Given the description of an element on the screen output the (x, y) to click on. 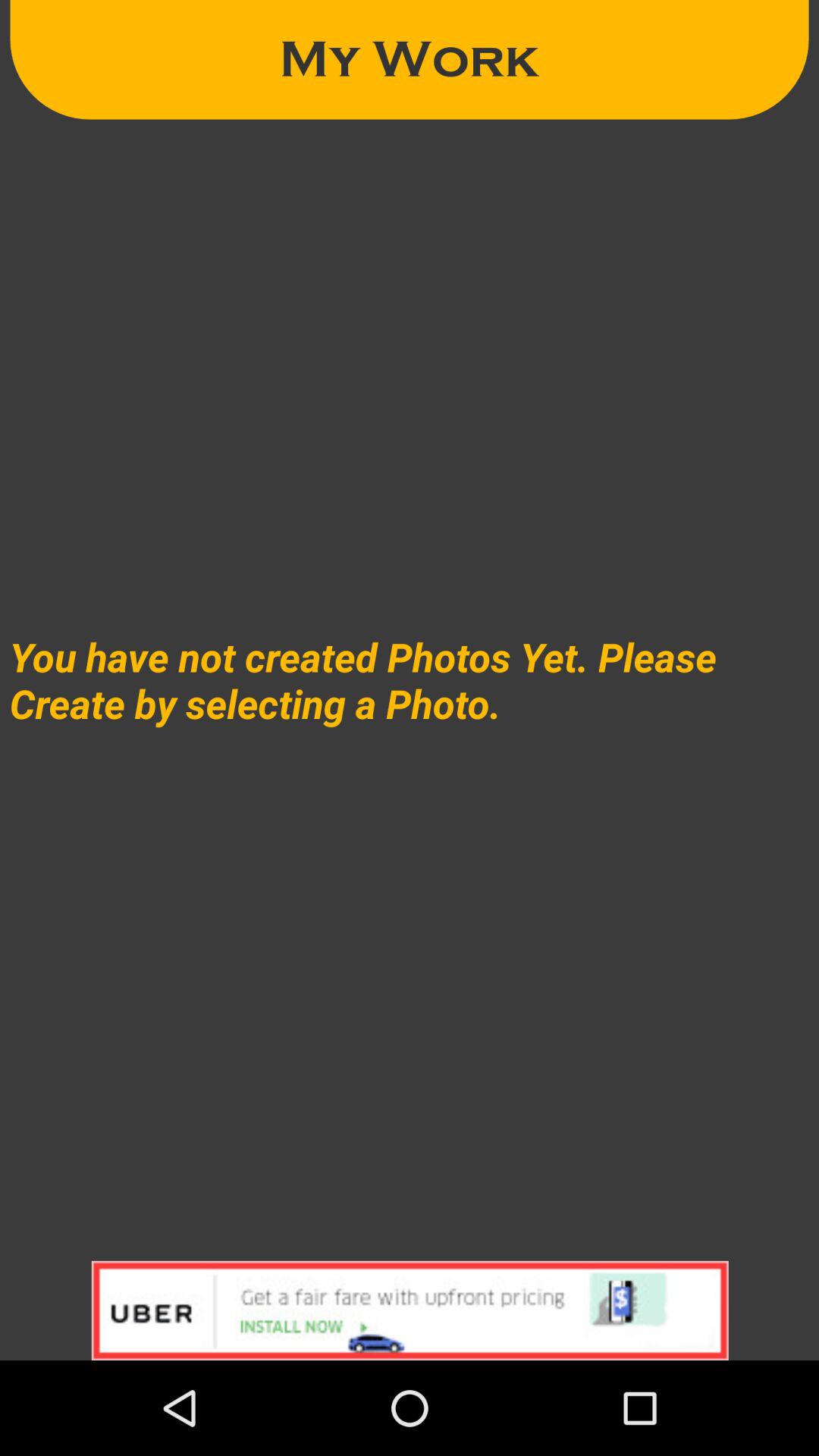
expand add (409, 1310)
